Given the description of an element on the screen output the (x, y) to click on. 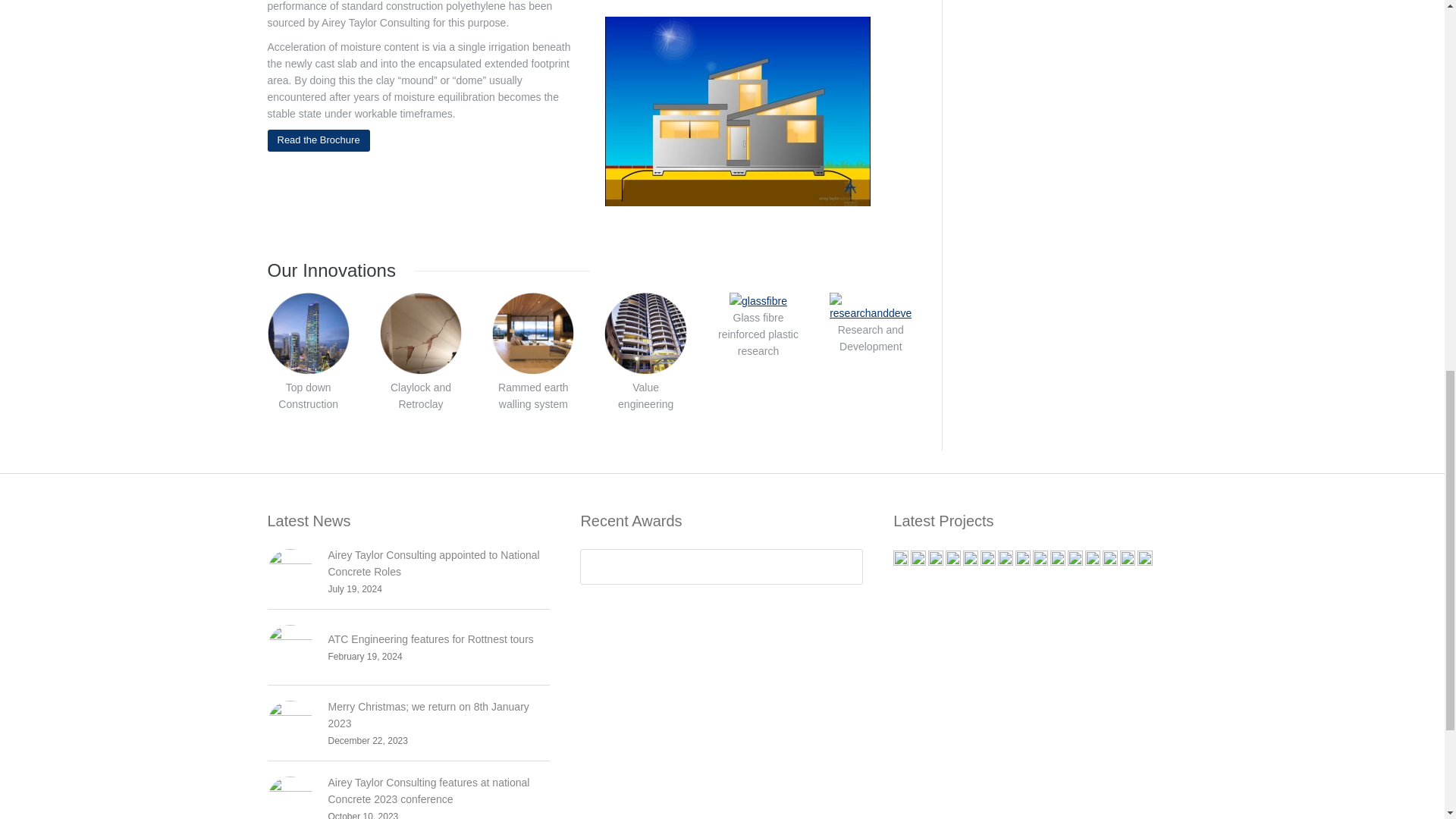
726 Hay Street, Perth; Adaptive Re-use (1005, 559)
Perth Zoo Cafe and Function Centre Precinct, South Perth (953, 559)
Alkimos Aquatic and Recreation Centre, Alkimos (902, 559)
Dolphin and Boat Ramp, Horn Island (1040, 559)
Fremantle Courthouse redevelopment, Fremantle (970, 559)
Eglinton South West Primary School, Eglinton (936, 559)
